Given the description of an element on the screen output the (x, y) to click on. 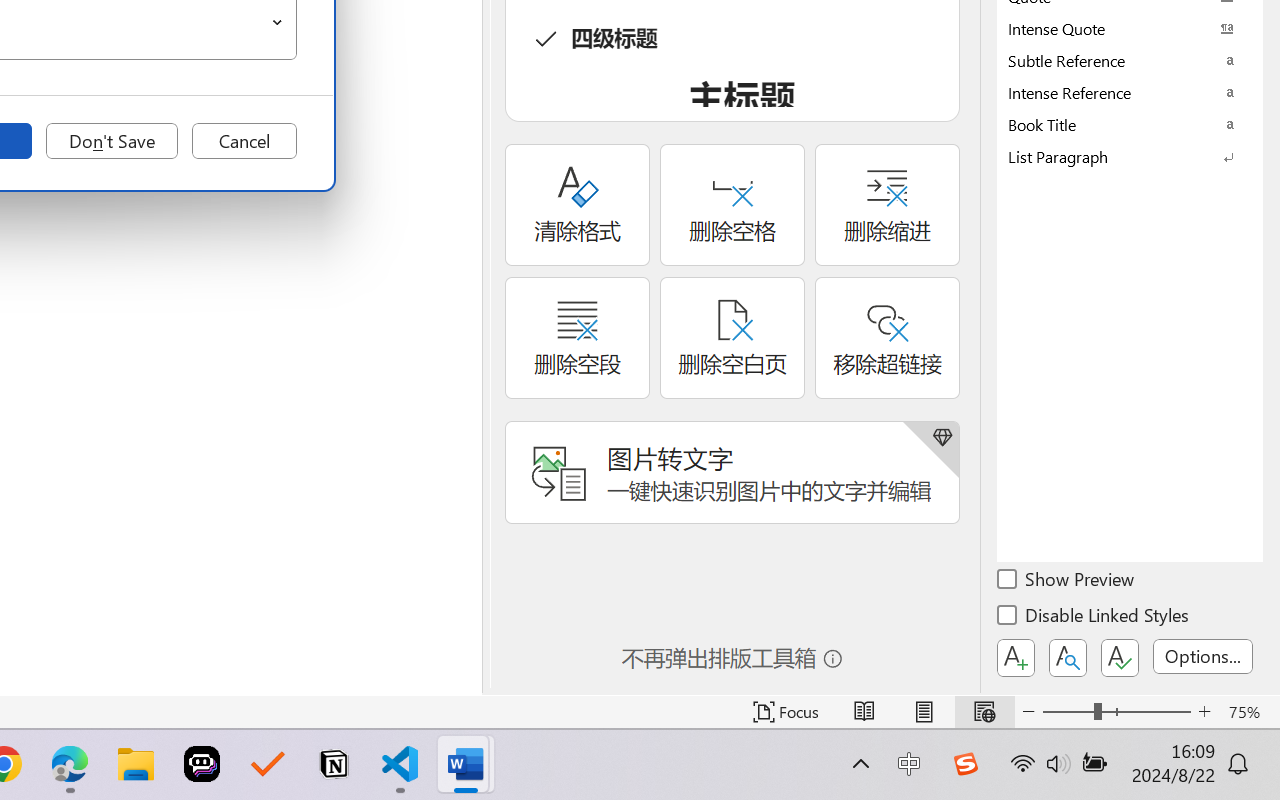
Zoom In (1204, 712)
Notion (333, 764)
Class: Image (965, 764)
Options... (1203, 656)
